Given the description of an element on the screen output the (x, y) to click on. 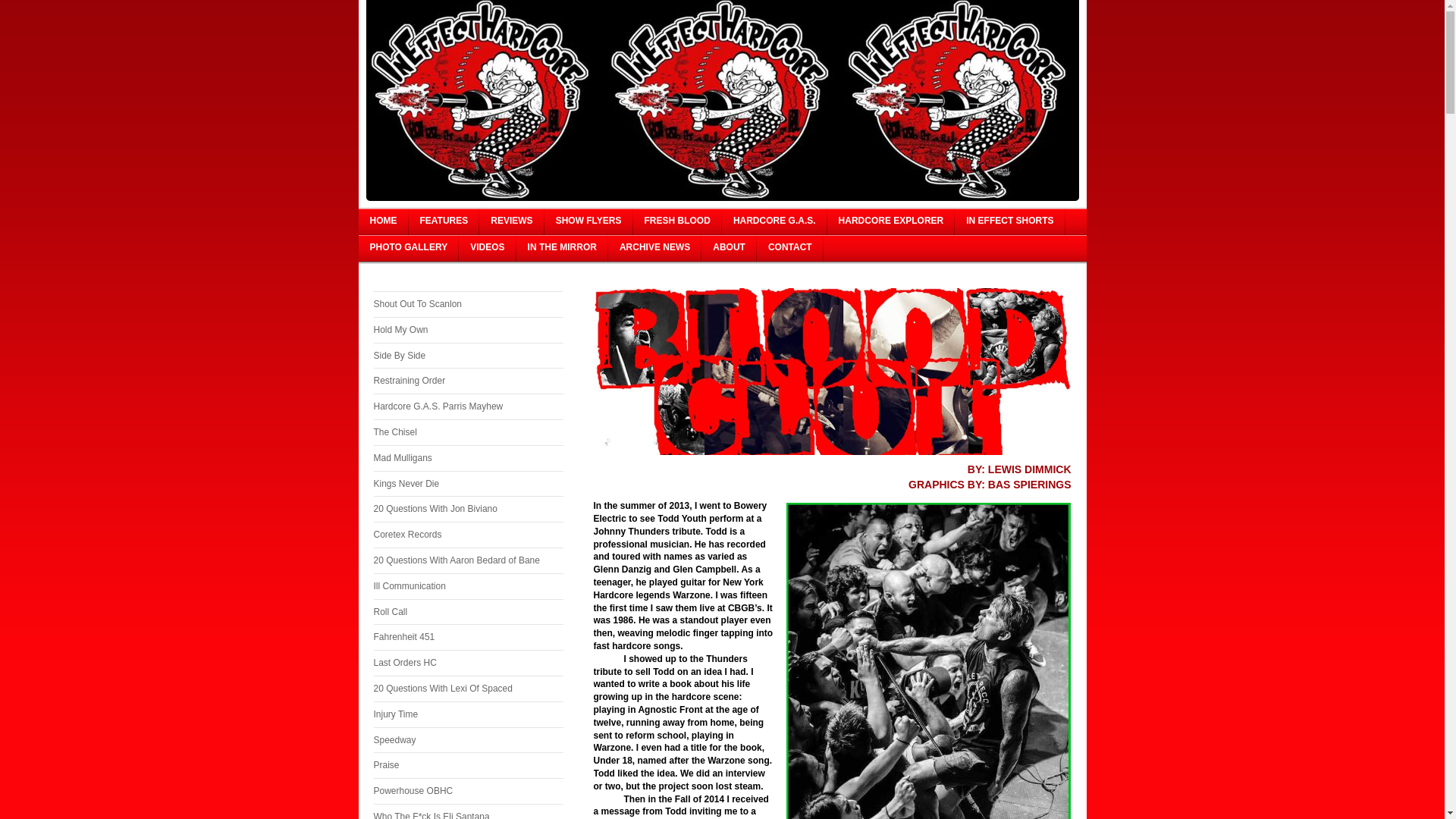
ARCHIVE NEWS (654, 248)
Mad Mulligans (467, 458)
Roll Call (467, 611)
Ill Communication (467, 586)
Kings Never Die (467, 483)
IN EFFECT SHORTS (1009, 221)
ABOUT (729, 248)
Speedway (467, 740)
FRESH BLOOD (677, 221)
Praise (467, 765)
